Given the description of an element on the screen output the (x, y) to click on. 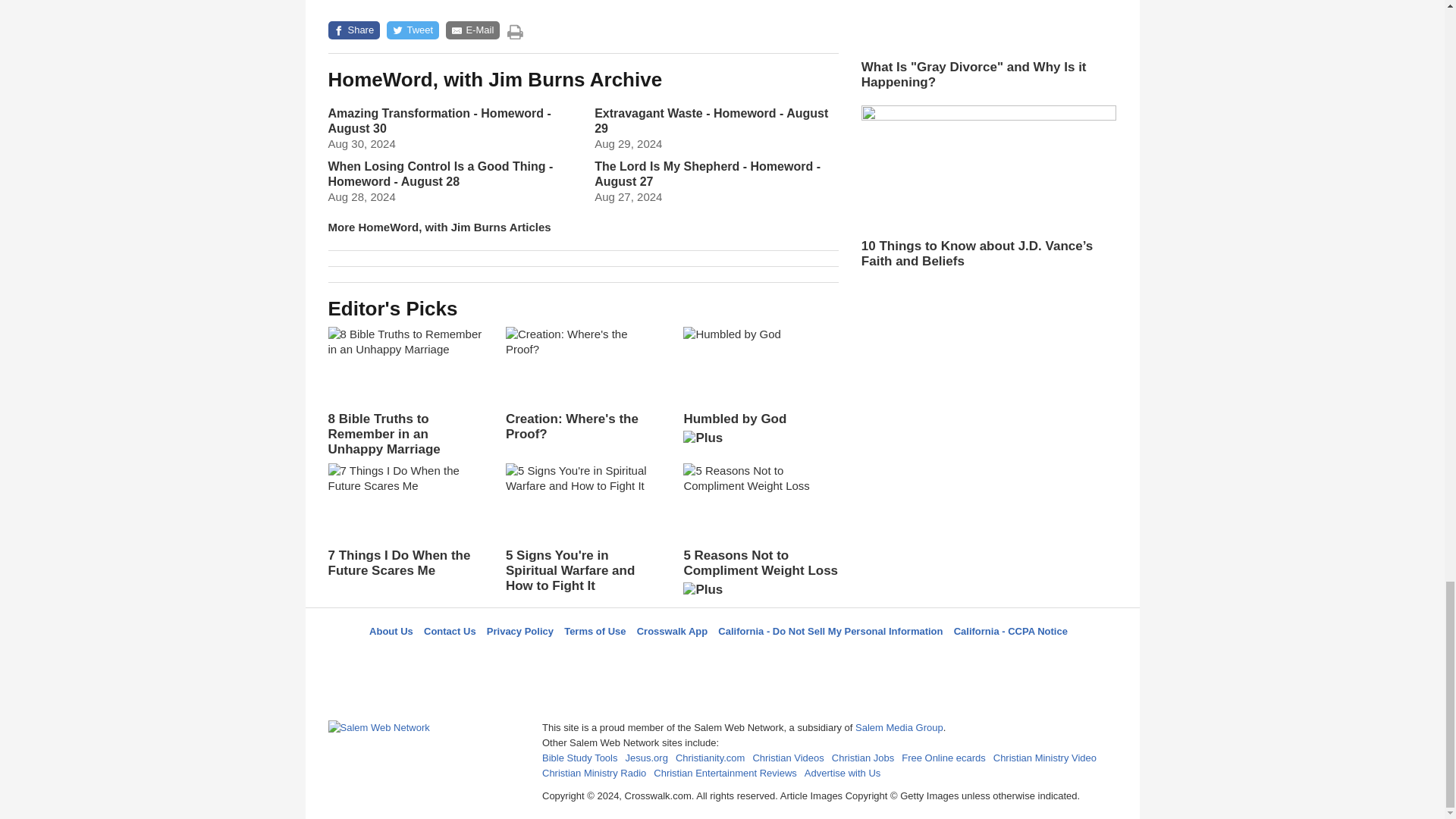
5 Reasons Not to Compliment Weight Loss (760, 535)
5 Signs You're in Spiritual Warfare and How to Fight It (583, 528)
Creation: Where's the Proof? (583, 384)
8 Bible Truths to Remember in an Unhappy Marriage (404, 391)
Twitter (683, 658)
7 Things I Do When the Future Scares Me (404, 520)
LifeAudio (719, 658)
Pinterest (757, 658)
Facebook (645, 658)
Humbled by God (760, 390)
